Given the description of an element on the screen output the (x, y) to click on. 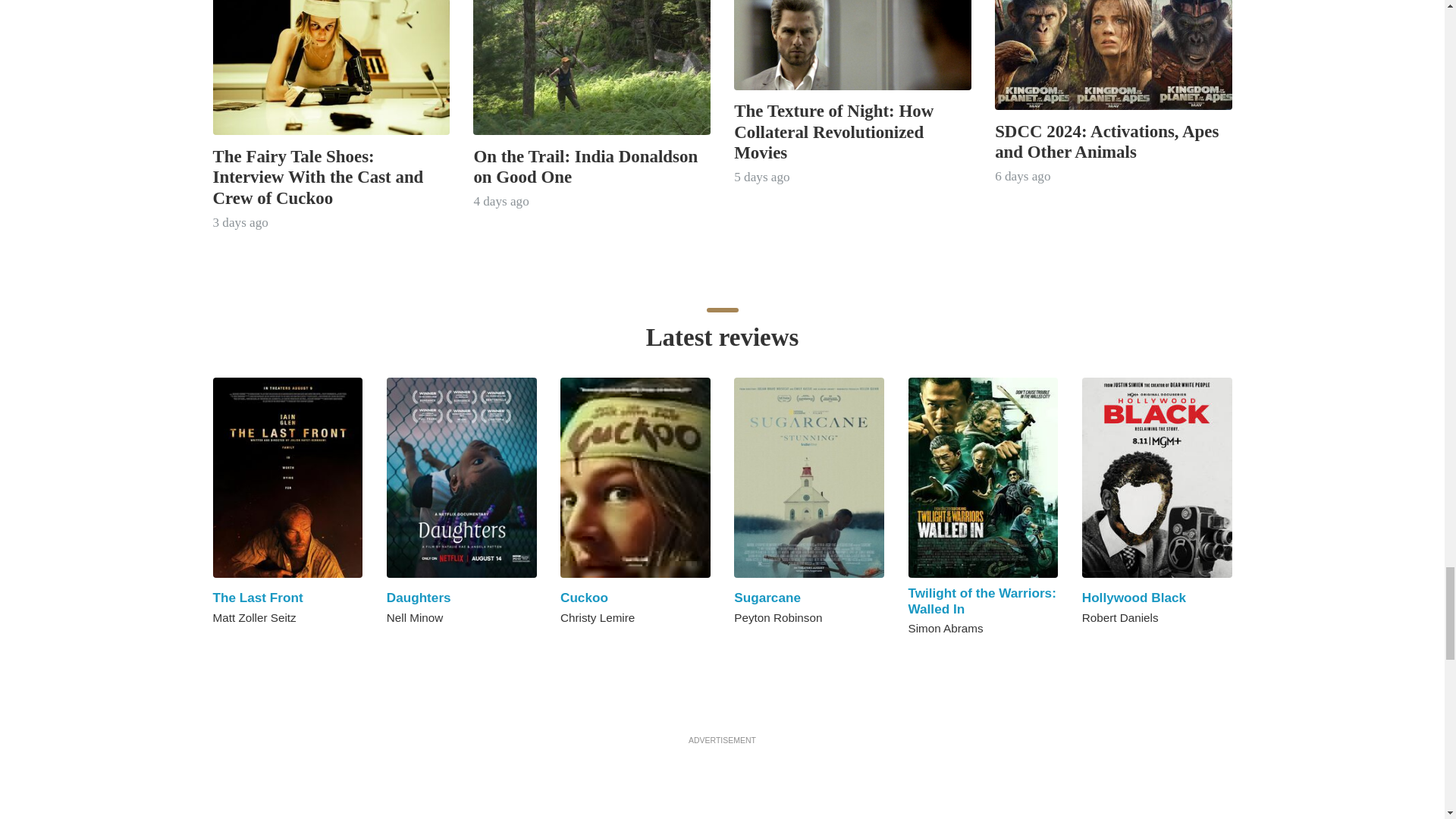
star-full (566, 644)
star-full (408, 644)
star-full (739, 644)
star-full (582, 644)
The Last Front (257, 597)
SDCC 2024: Activations, Apes and Other Animals (1106, 141)
star-full (218, 644)
star-half (440, 644)
star-full (424, 644)
star-full (392, 644)
